Given the description of an element on the screen output the (x, y) to click on. 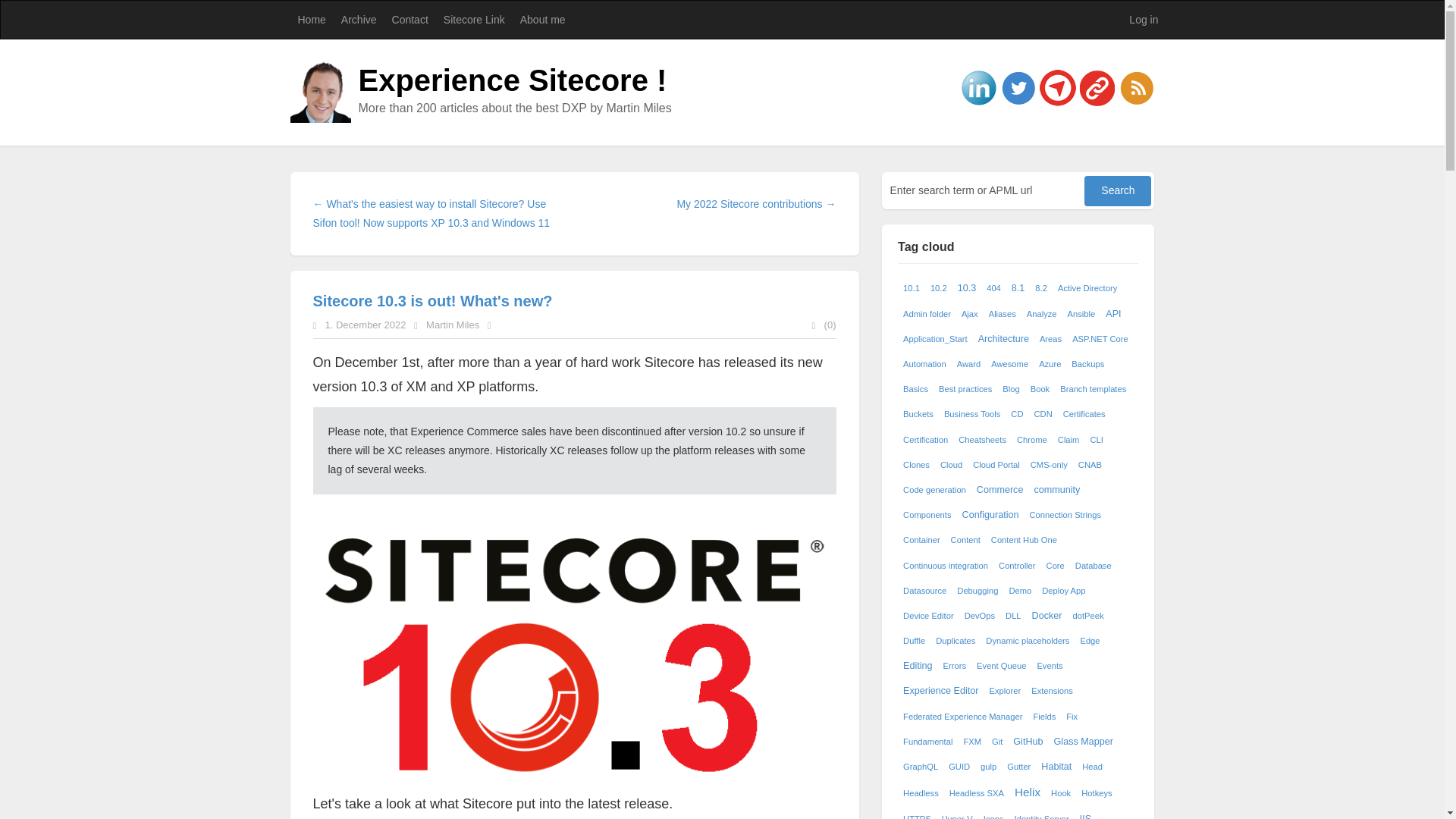
Search (1117, 191)
Contact (409, 19)
Tag: 10.2 (938, 287)
Tag: 10.3 (966, 287)
Tag: 404 (993, 287)
Enter search term or APML url (983, 190)
Tag: 10.1 (911, 287)
Experience Sitecore ! (512, 80)
Log in (1143, 19)
Martin Miles (452, 324)
